Given the description of an element on the screen output the (x, y) to click on. 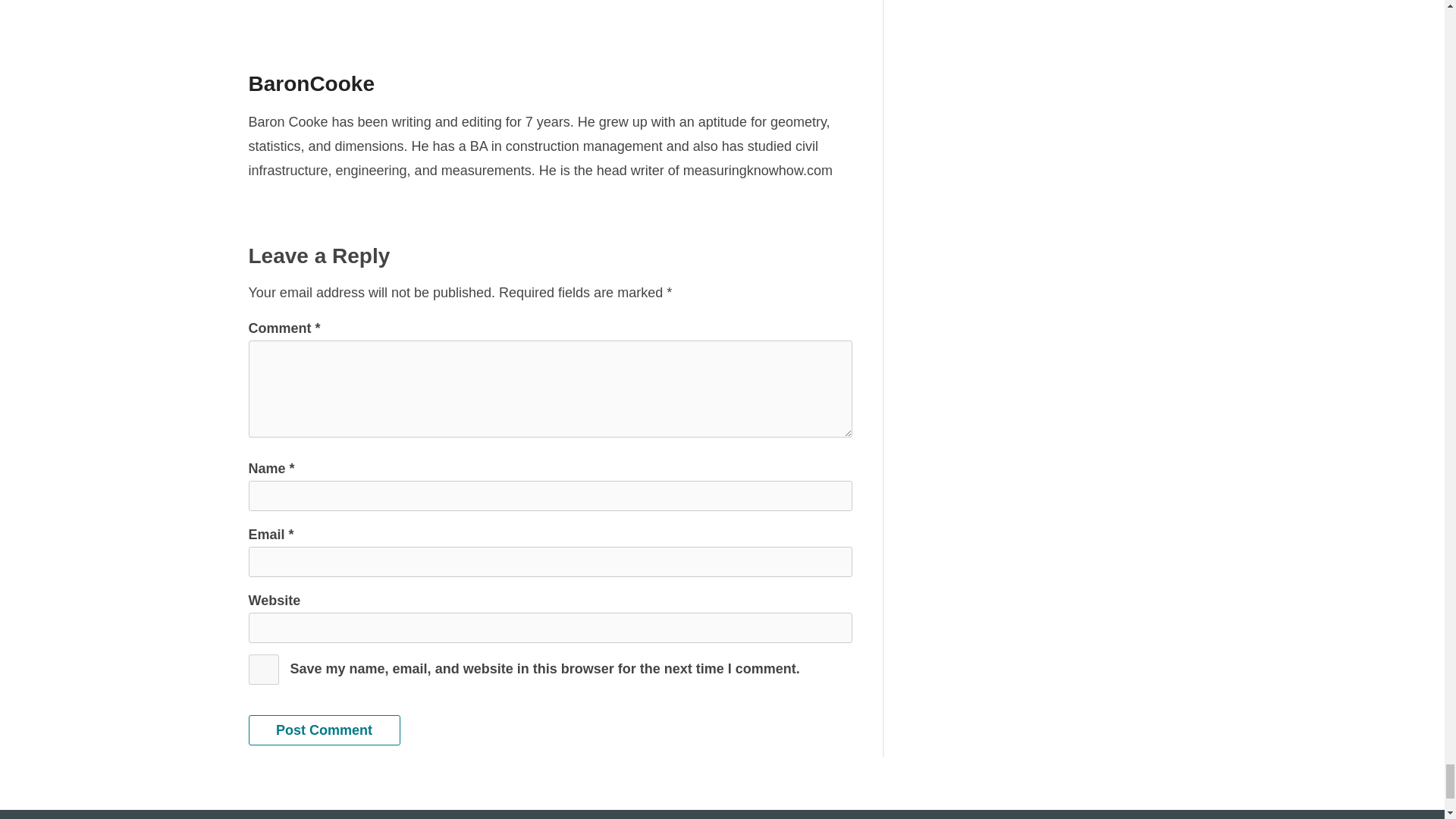
yes (263, 669)
Post Comment (324, 729)
Post Comment (324, 729)
